Given the description of an element on the screen output the (x, y) to click on. 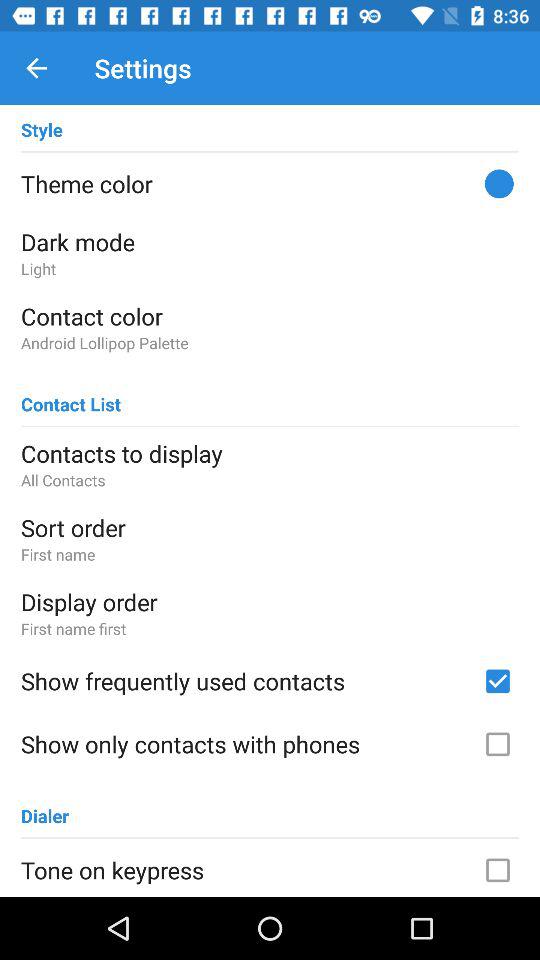
click the item below contacts to display item (270, 479)
